Given the description of an element on the screen output the (x, y) to click on. 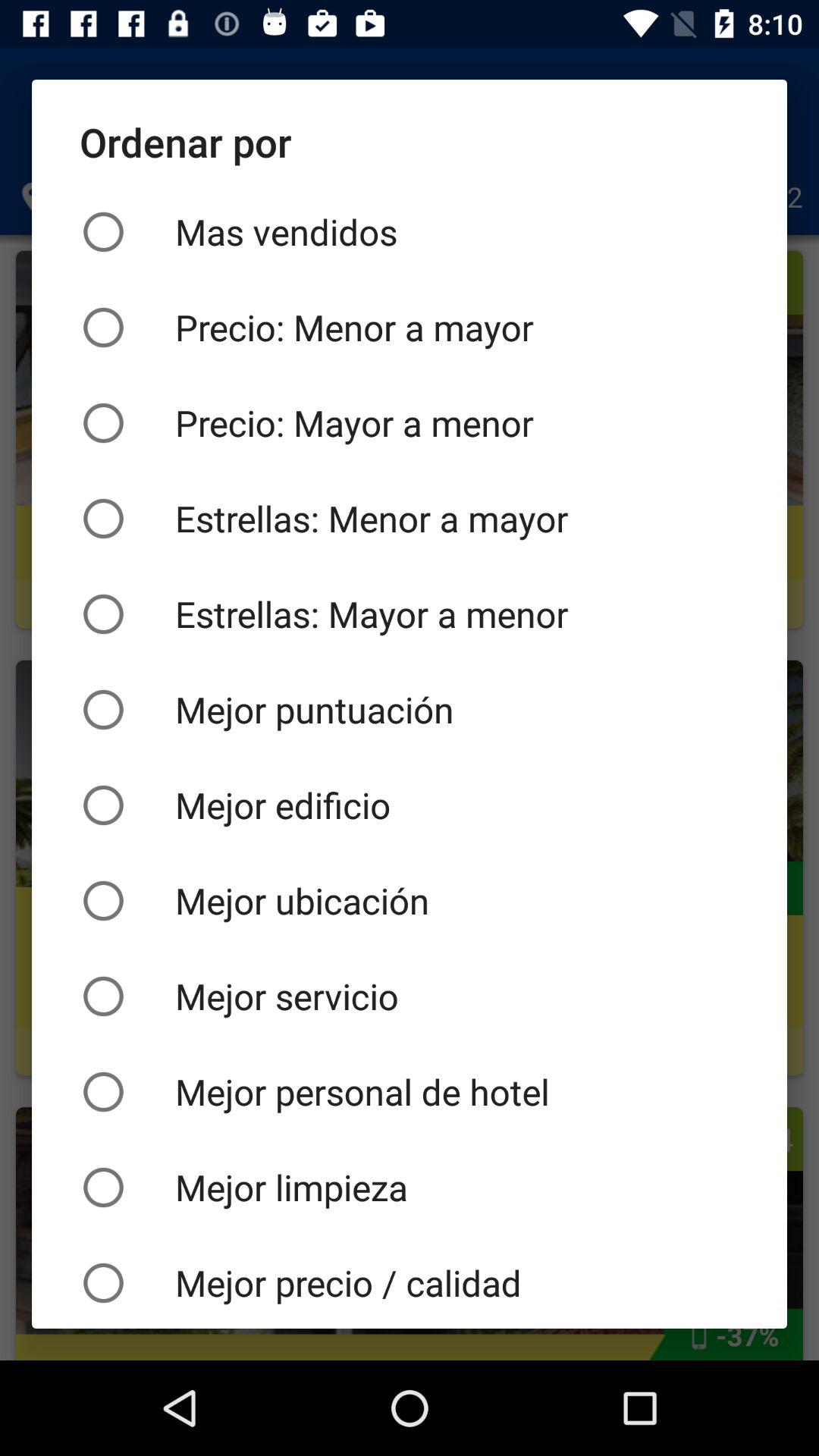
launch icon above the mejor precio / calidad icon (409, 1187)
